Given the description of an element on the screen output the (x, y) to click on. 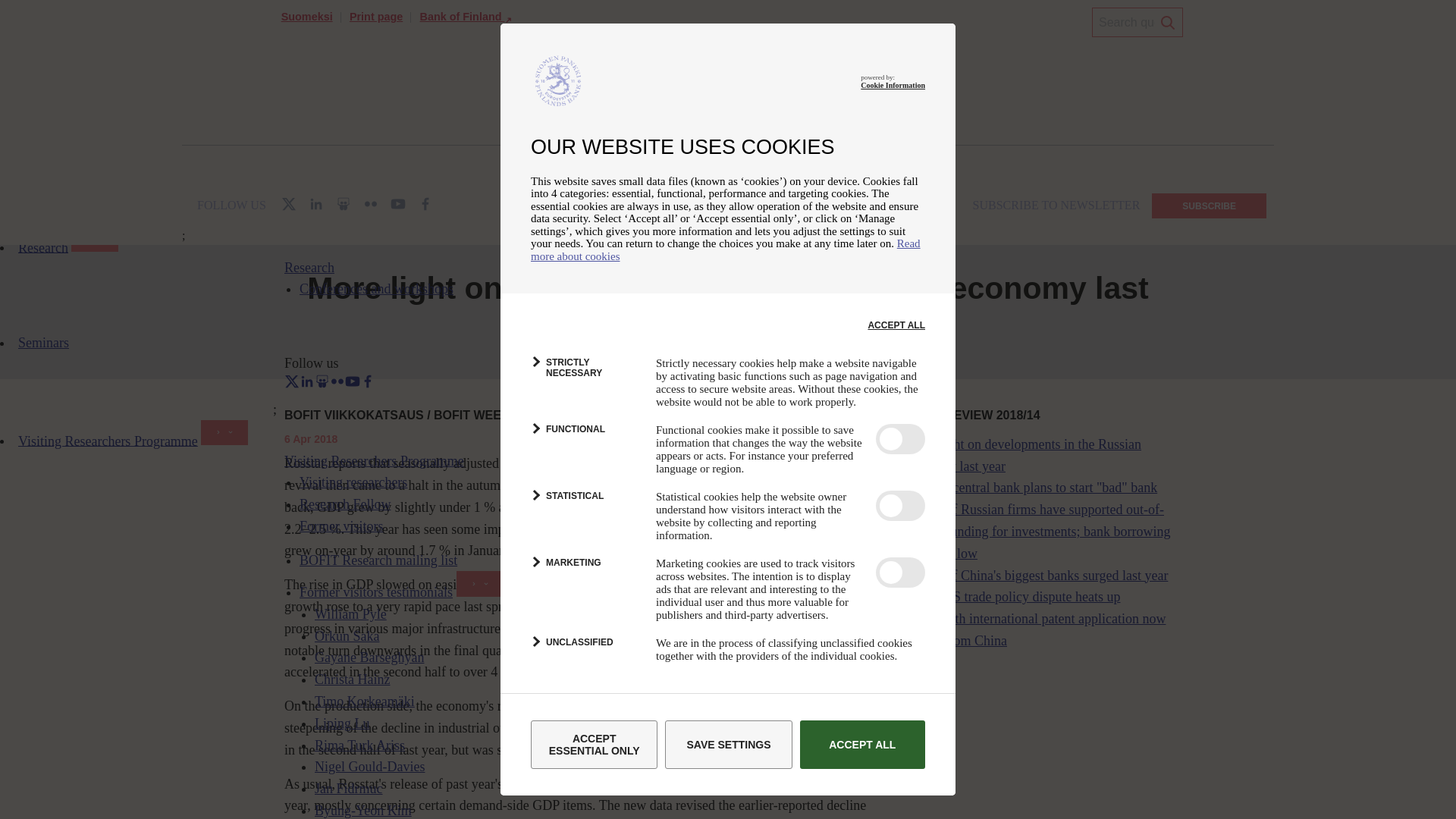
ACCEPT ESSENTIAL ONLY (594, 744)
Return to frontpage (305, 186)
UNCLASSIFIED (585, 649)
Go to section Weekly Review (452, 186)
STRICTLY NECESSARY (585, 370)
Cookie Information (892, 85)
FUNCTIONAL (585, 436)
ACCEPT ALL (861, 744)
STATISTICAL (585, 503)
Read more about cookies (725, 249)
MARKETING (585, 570)
ACCEPT ALL (895, 325)
Go to section Monitoring (374, 186)
